Given the description of an element on the screen output the (x, y) to click on. 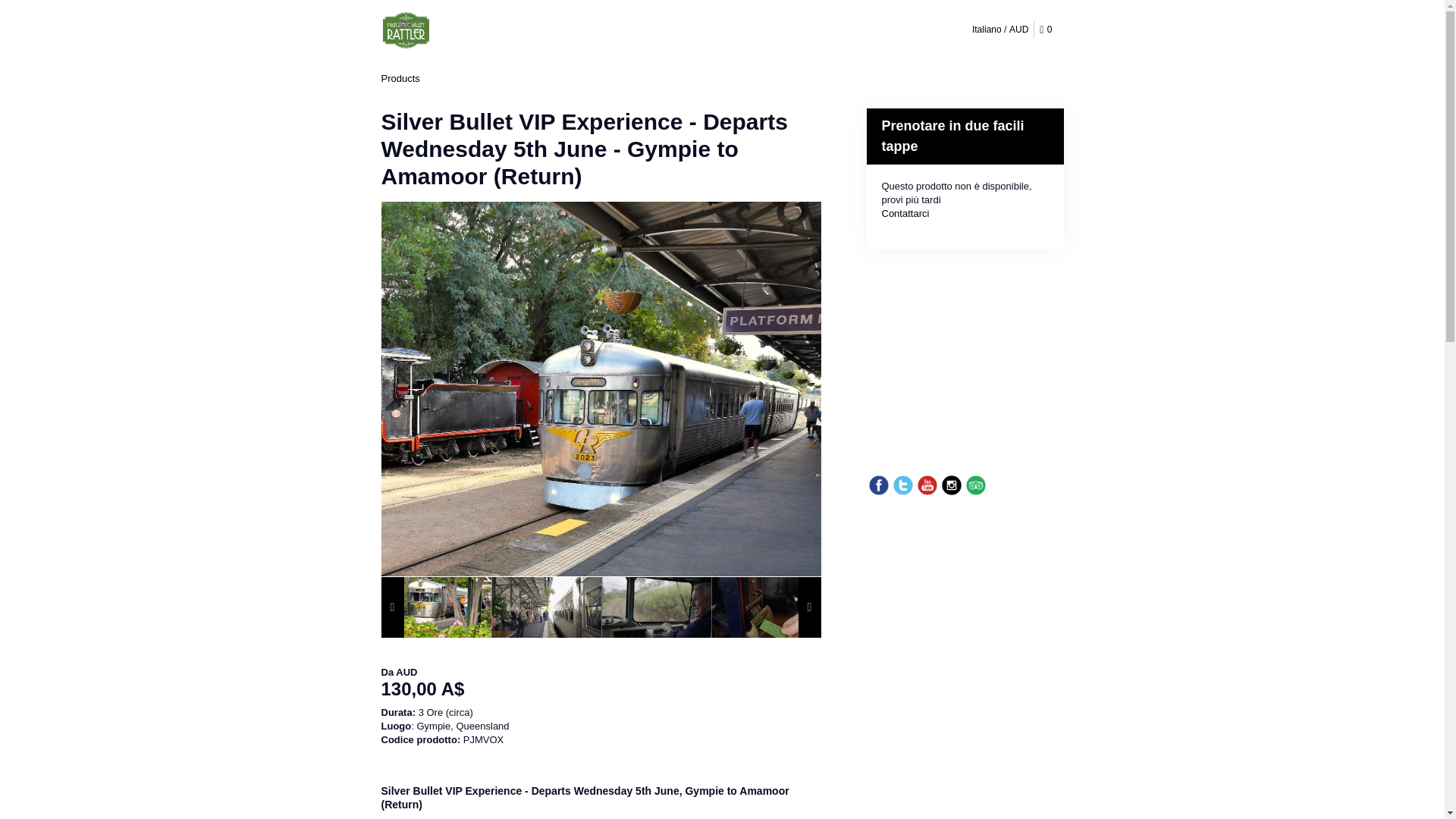
Conversione stimata da 130 (600, 689)
0 (1047, 30)
Italiano AUD (999, 29)
Products (399, 78)
